Given the description of an element on the screen output the (x, y) to click on. 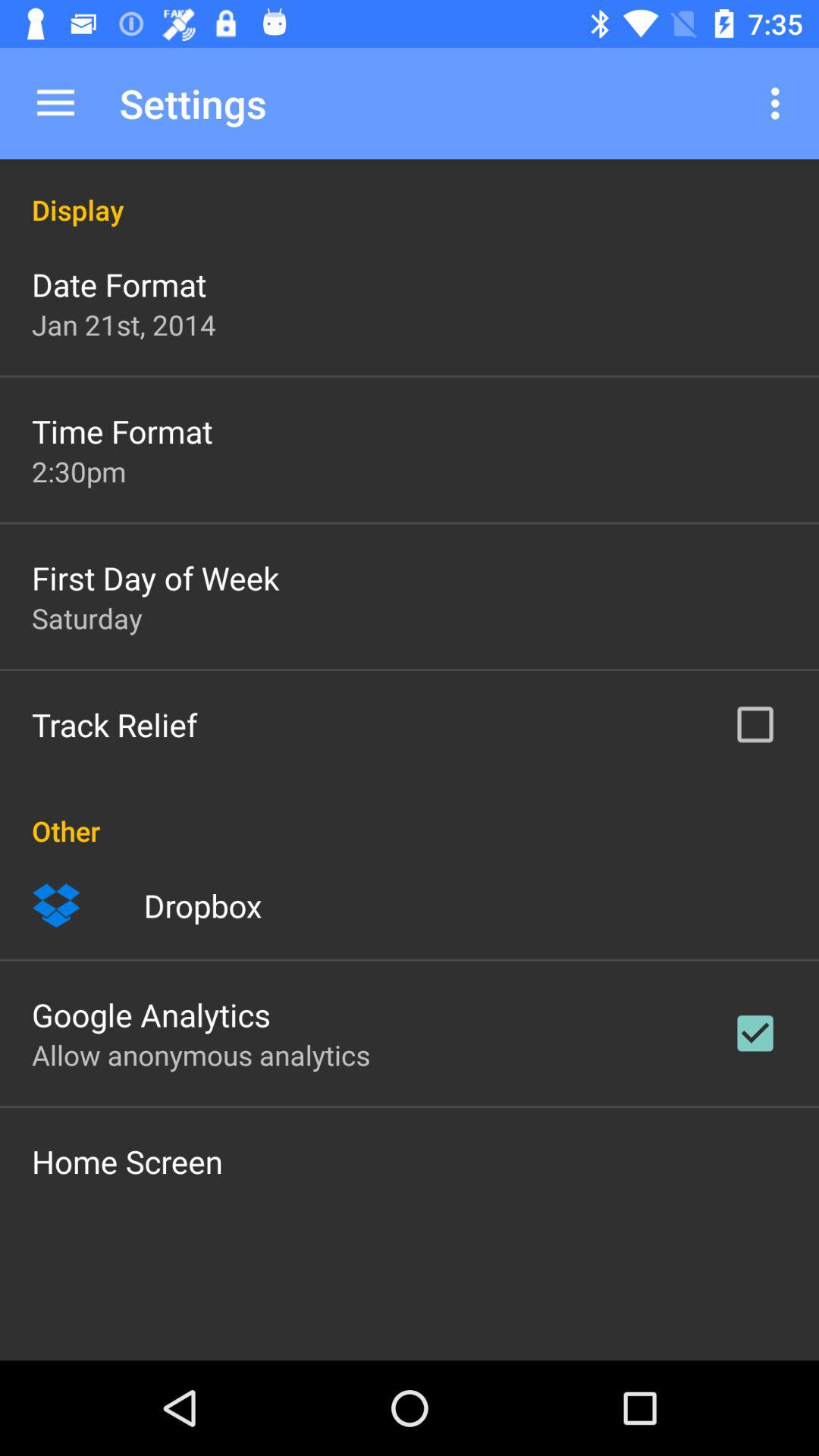
flip to date format item (118, 283)
